Given the description of an element on the screen output the (x, y) to click on. 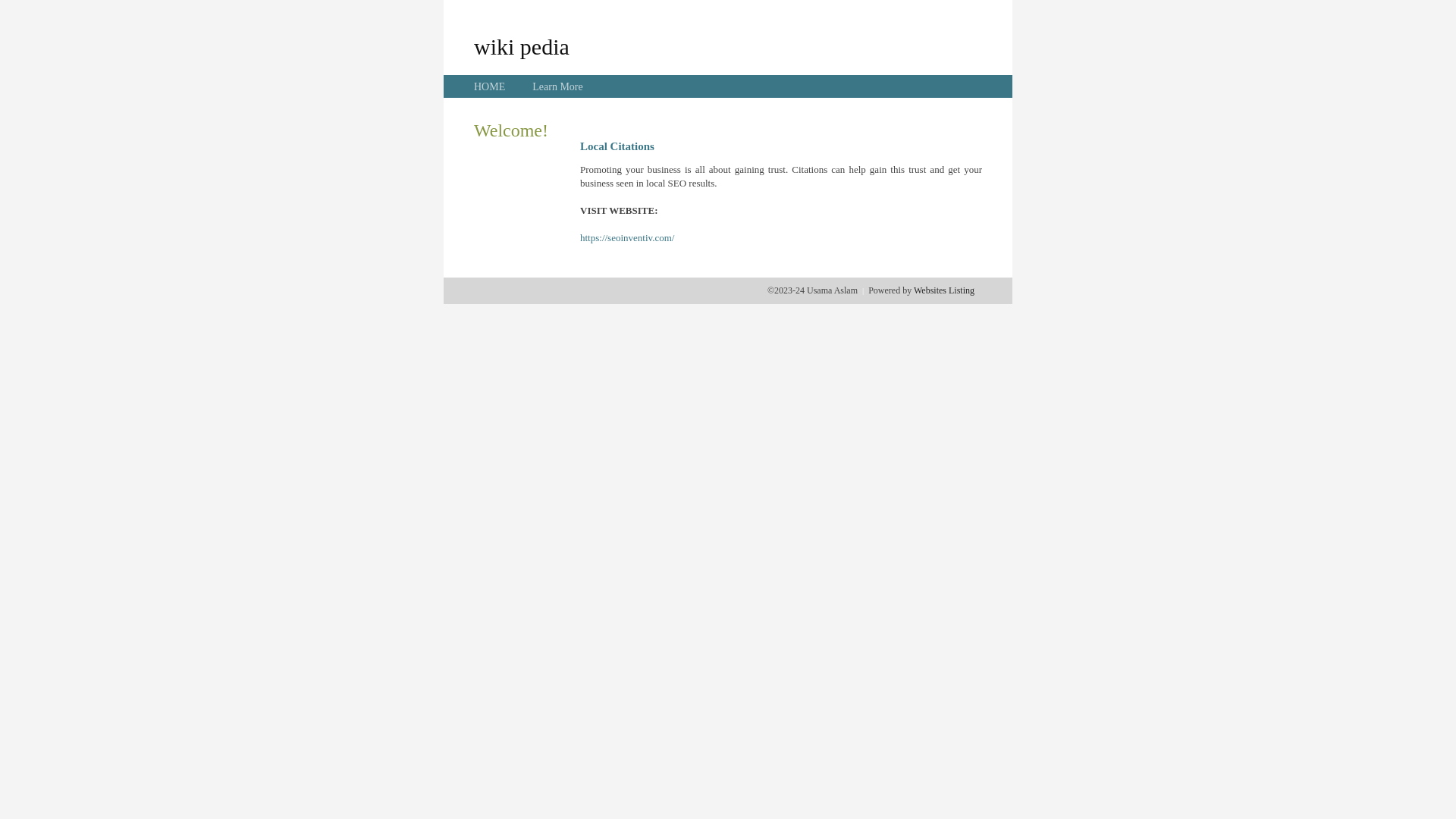
HOME Element type: text (489, 86)
wiki pedia Element type: text (521, 46)
Websites Listing Element type: text (943, 290)
Learn More Element type: text (557, 86)
https://seoinventiv.com/ Element type: text (627, 237)
